Given the description of an element on the screen output the (x, y) to click on. 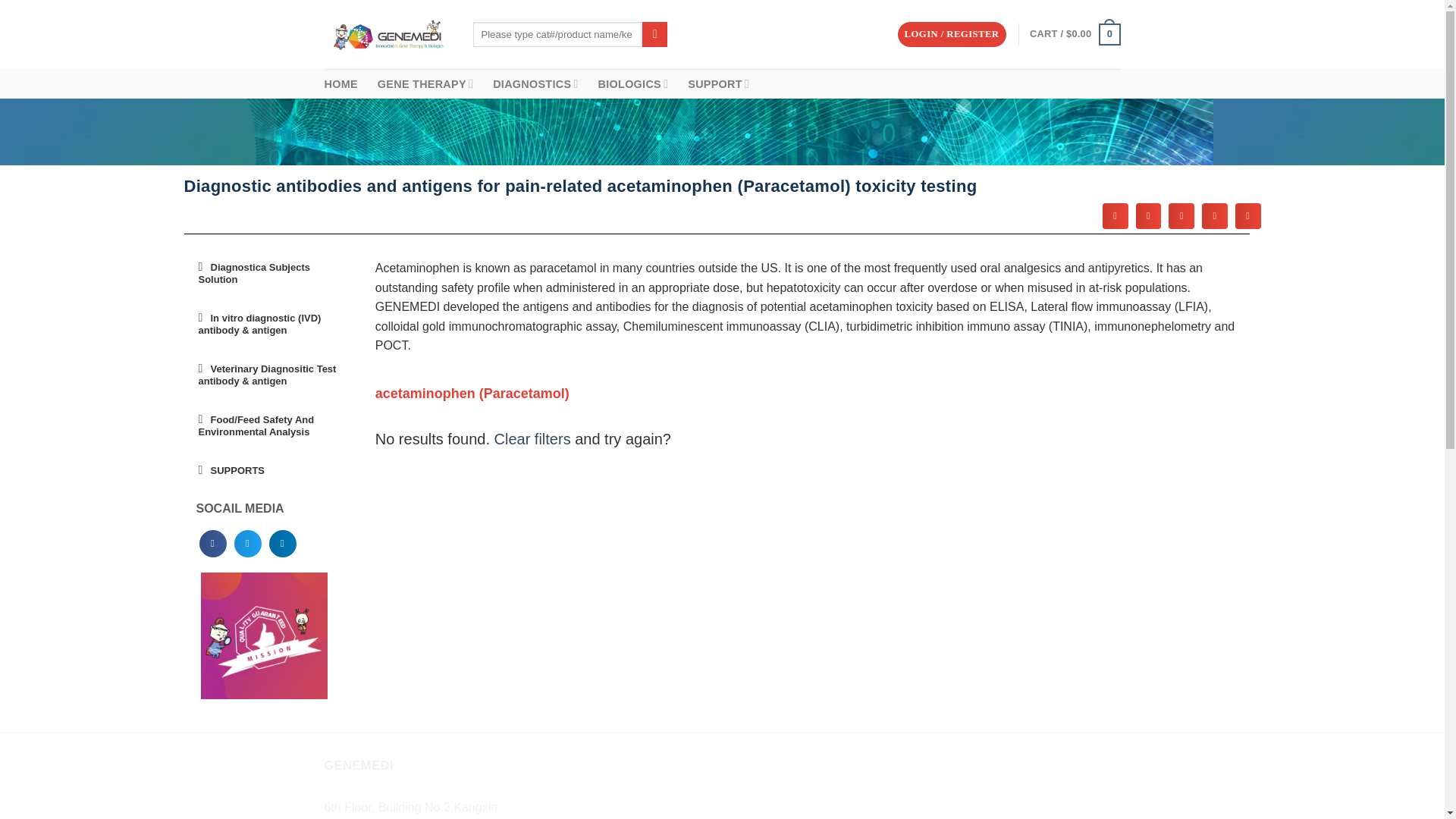
GENE THERAPY (425, 83)
Genemedi (386, 34)
Cart (1074, 34)
HOME (341, 83)
Search (654, 34)
